Given the description of an element on the screen output the (x, y) to click on. 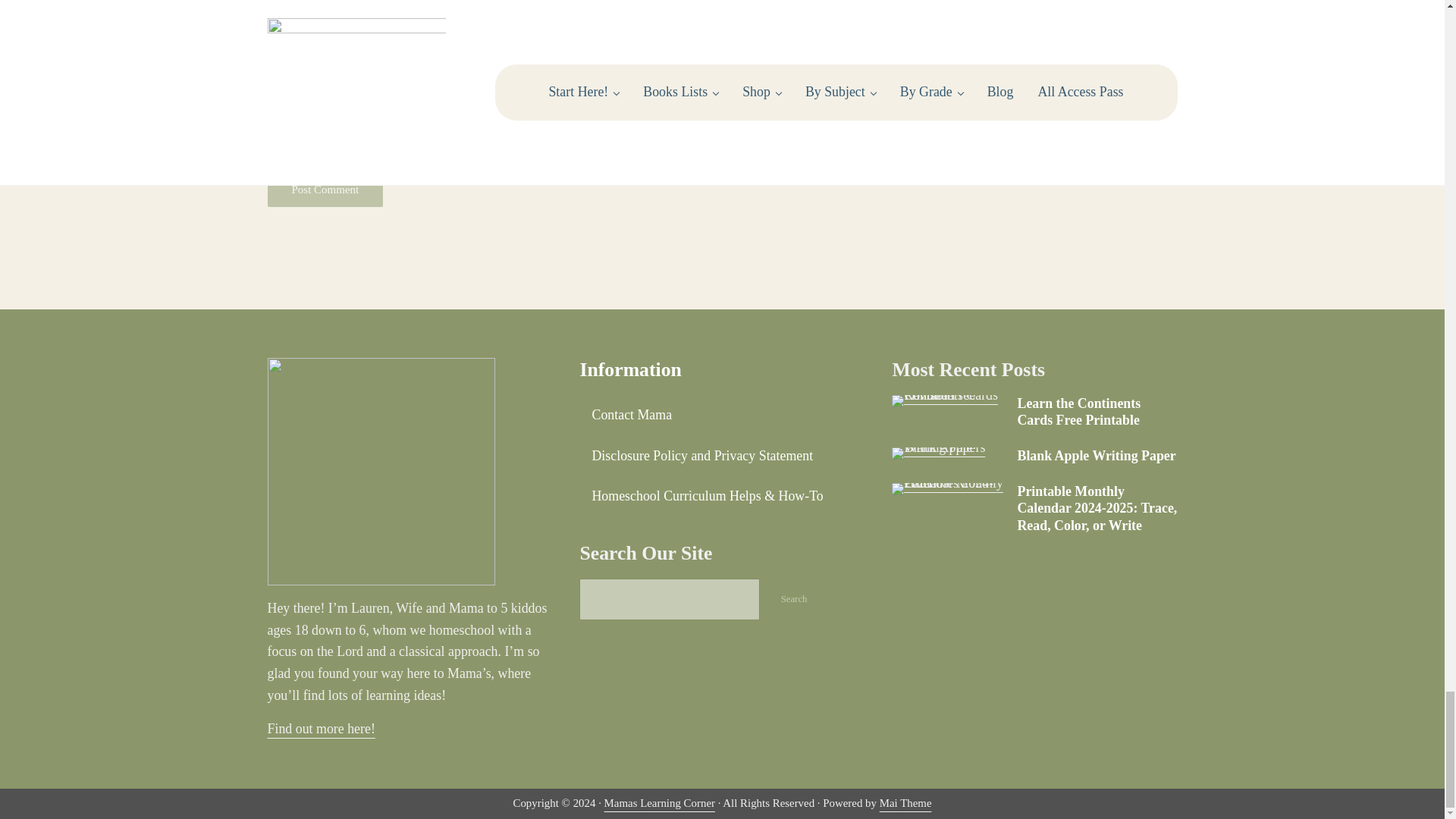
Post Comment (324, 189)
subscribe (274, 147)
yes (274, 108)
